Given the description of an element on the screen output the (x, y) to click on. 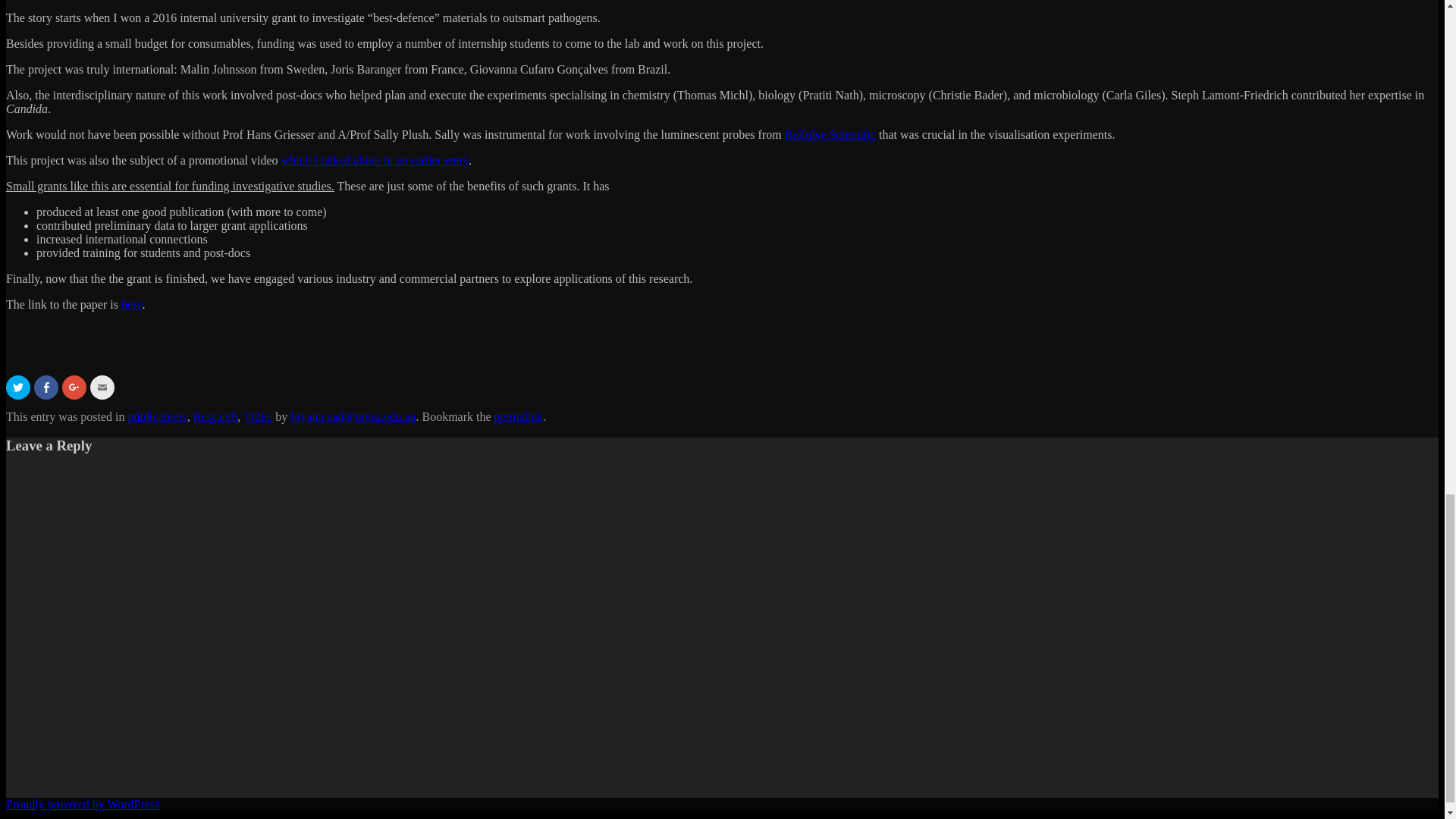
Proudly powered by WordPress (81, 803)
permalink (519, 416)
publications (157, 416)
ReZolve Scientific (830, 133)
Click to email this to a friend (102, 387)
which I talked about in an earlier entry (374, 160)
Click to share on Facebook (45, 387)
Video (257, 416)
Semantic Personal Publishing Platform (81, 803)
Research (215, 416)
Click to share on Twitter (17, 387)
here (131, 304)
